Given the description of an element on the screen output the (x, y) to click on. 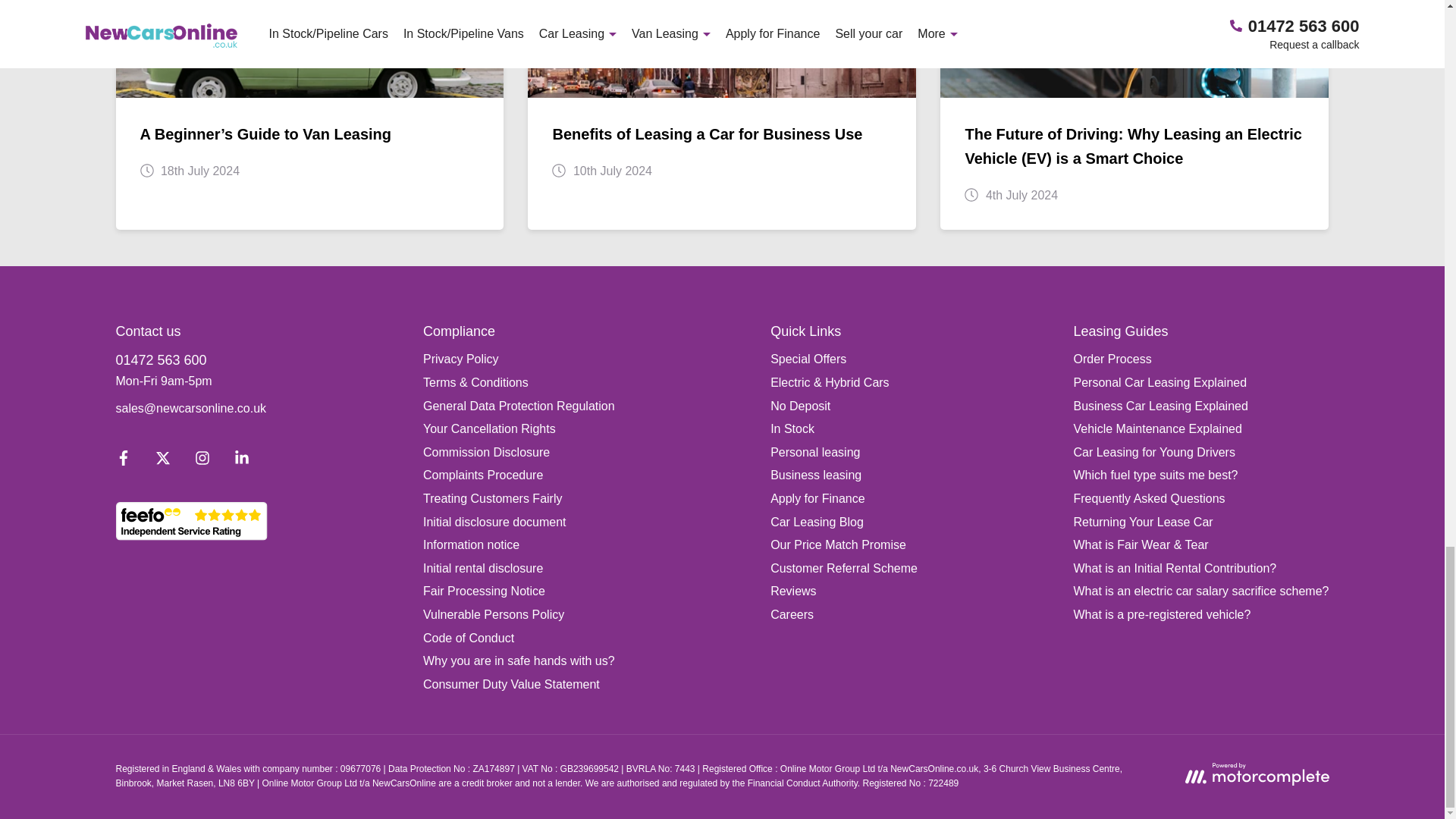
See what our customers say about us (190, 521)
Instagram (201, 461)
Twitter (162, 461)
Car lease broker websites by MotorComplete (1256, 774)
Facebook (122, 461)
LinkedIn (240, 461)
